Given the description of an element on the screen output the (x, y) to click on. 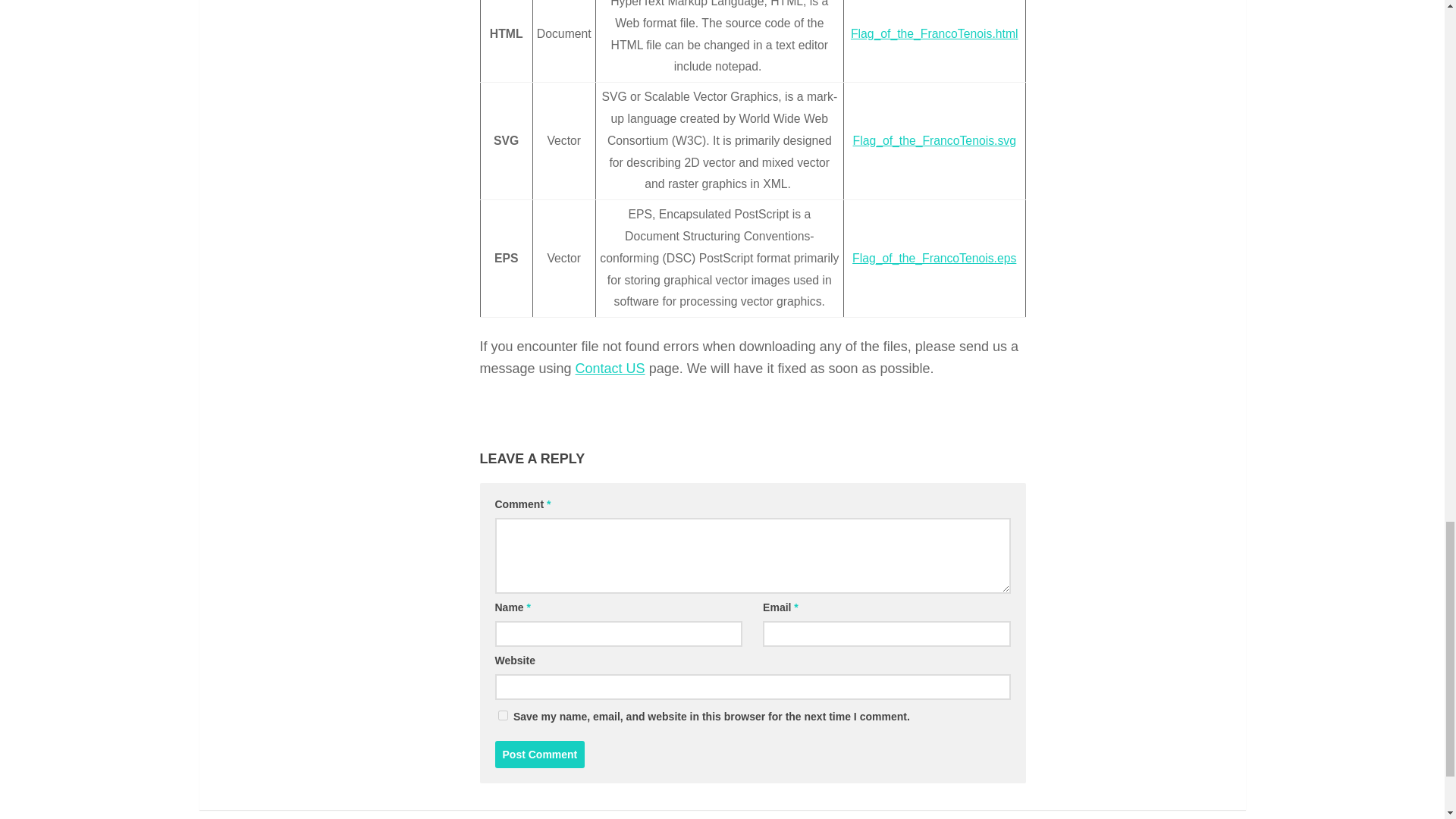
Contact US (610, 368)
Post Comment (540, 754)
Post Comment (540, 754)
yes (501, 715)
